Given the description of an element on the screen output the (x, y) to click on. 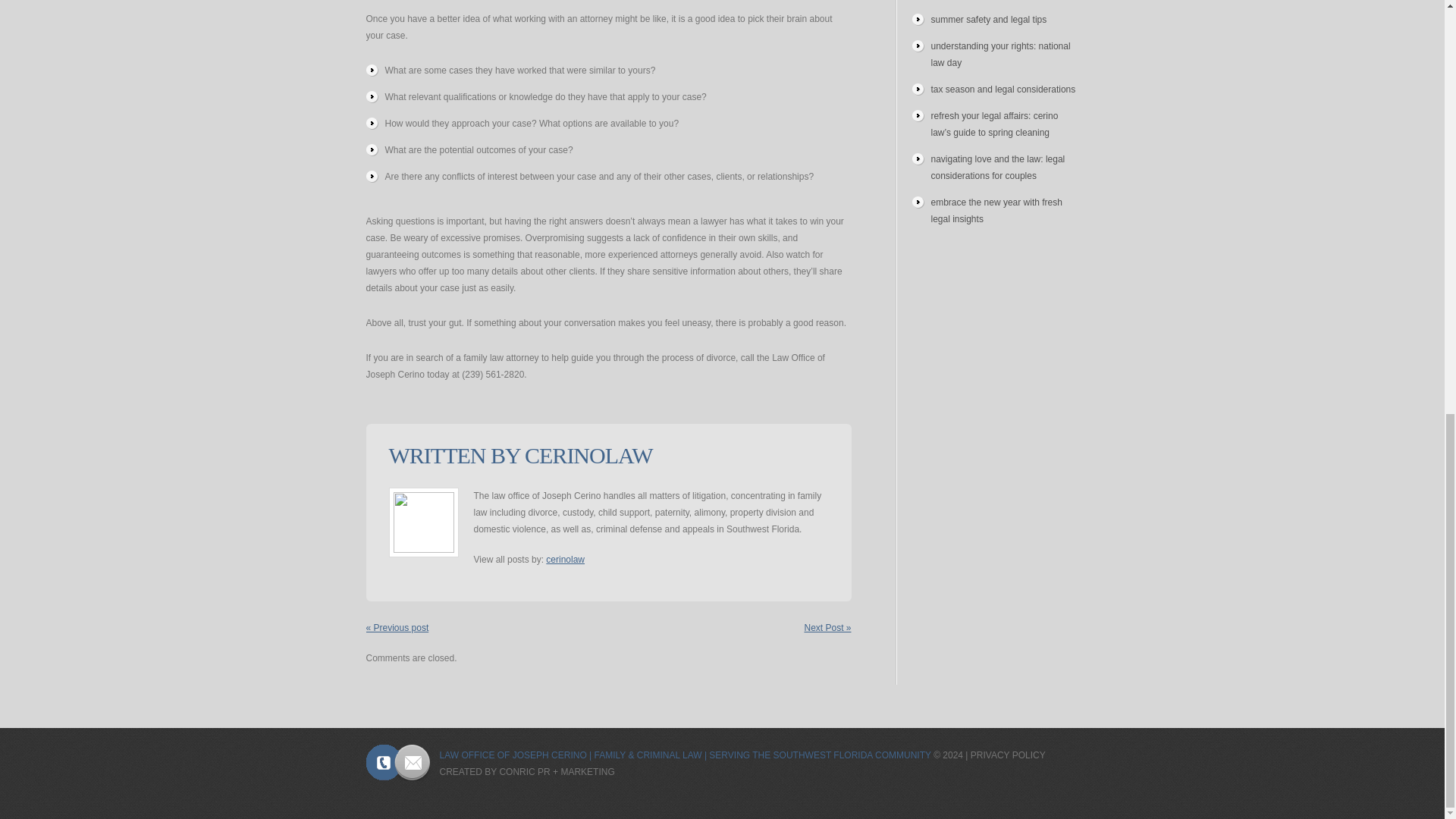
PRIVACY POLICY (1008, 755)
cerinolaw (565, 559)
Posts by cerinolaw (565, 559)
Privacy Policy (1008, 755)
understanding your rights: national law day (1000, 53)
tax season and legal considerations (1003, 89)
embrace the new year with fresh legal insights (996, 210)
CERINOLAW (588, 455)
summer safety and legal tips (988, 19)
Posts by cerinolaw (588, 455)
CONTACTS (397, 762)
